Given the description of an element on the screen output the (x, y) to click on. 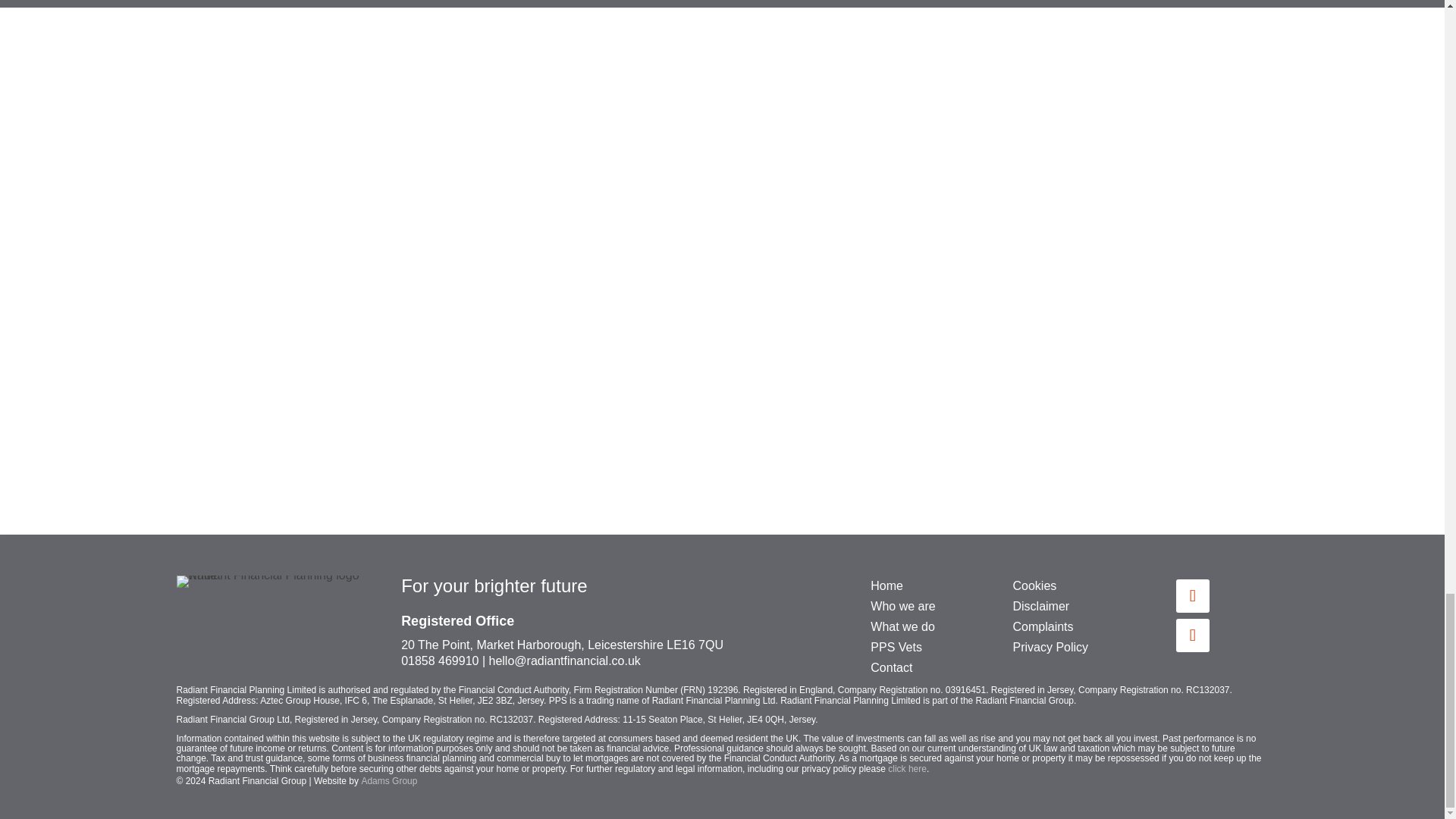
Radiant Financial Planning logo white (272, 581)
